Given the description of an element on the screen output the (x, y) to click on. 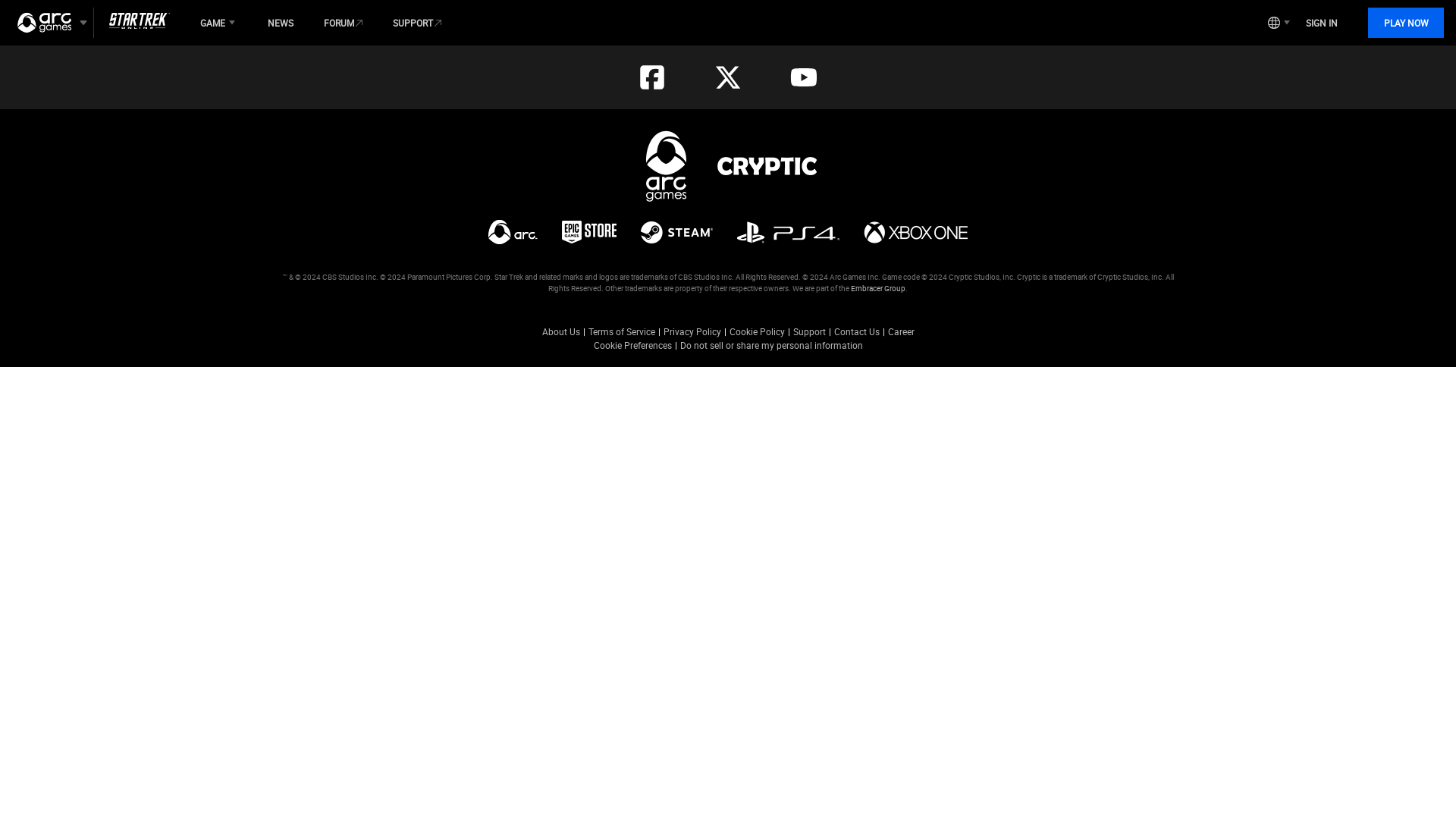
Contact Us (856, 331)
Embracer Group (877, 287)
PLAY NOW (1406, 22)
Career (900, 331)
Privacy Policy (691, 331)
GAME (218, 22)
Terms of Service (621, 331)
Do not sell or share my personal information (770, 345)
Cookie Policy (756, 331)
FORUM (342, 22)
Support (809, 331)
SUPPORT (417, 22)
Cookie Preferences (631, 345)
About Us (560, 331)
NEWS (280, 22)
